Given the description of an element on the screen output the (x, y) to click on. 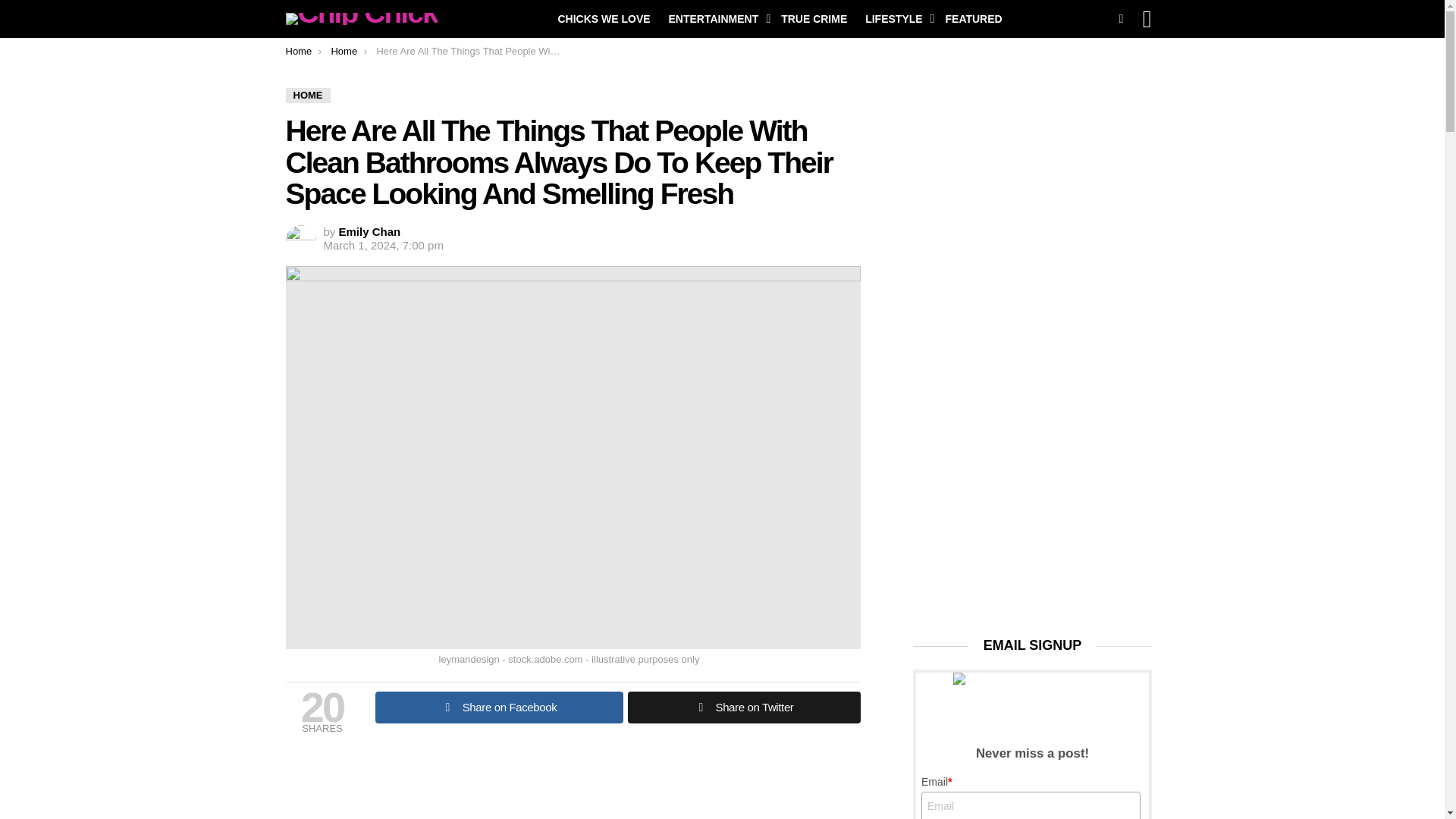
LIFESTYLE (895, 18)
FEATURED (973, 18)
CHICKS WE LOVE (604, 18)
TRUE CRIME (813, 18)
ENTERTAINMENT (716, 18)
Posts by Emily Chan (370, 231)
Email (1030, 805)
